Given the description of an element on the screen output the (x, y) to click on. 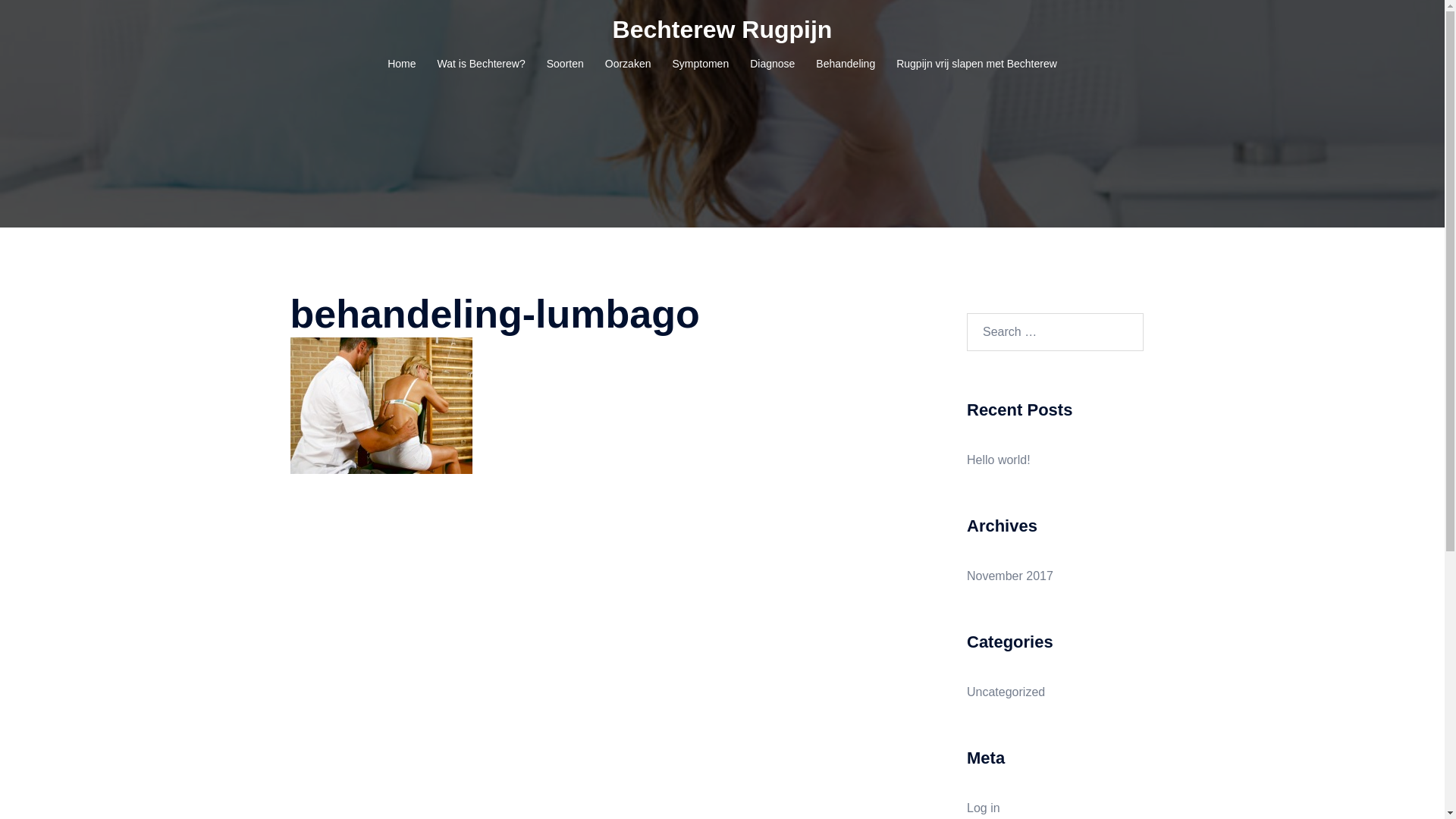
Wat is Bechterew? Element type: text (481, 64)
November 2017 Element type: text (1009, 575)
Search Element type: text (49, 18)
Rugpijn vrij slapen met Bechterew Element type: text (976, 64)
Oorzaken Element type: text (628, 64)
Uncategorized Element type: text (1005, 691)
Log in Element type: text (983, 807)
Symptomen Element type: text (699, 64)
Behandeling Element type: text (845, 64)
Bechterew Rugpijn Element type: text (722, 29)
Hello world! Element type: text (998, 459)
Home Element type: text (401, 64)
Soorten Element type: text (564, 64)
Diagnose Element type: text (771, 64)
